Given the description of an element on the screen output the (x, y) to click on. 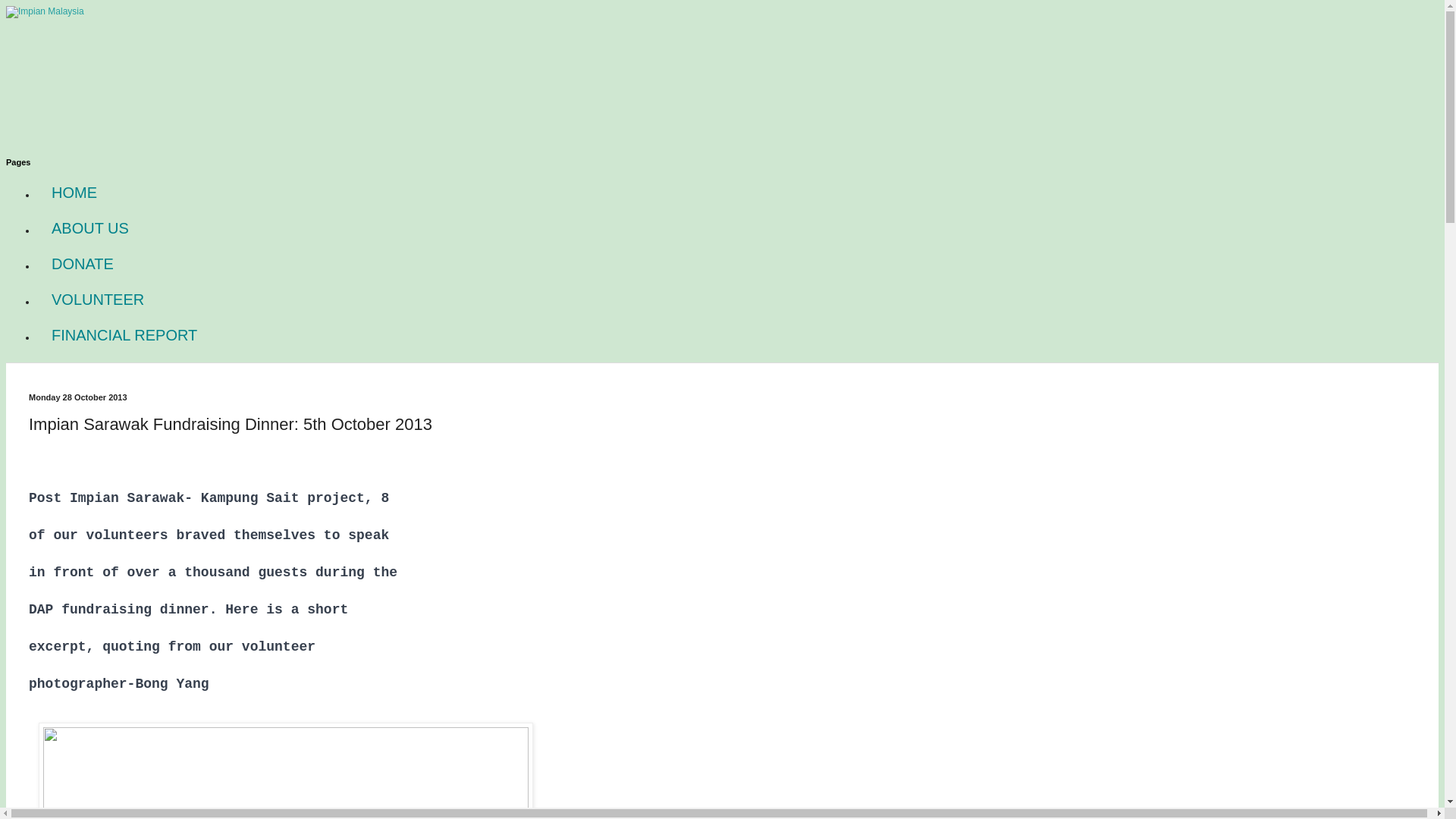
VOLUNTEER (97, 299)
FINANCIAL REPORT (124, 334)
DONATE (82, 263)
HOME (74, 192)
ABOUT US (90, 228)
